Given the description of an element on the screen output the (x, y) to click on. 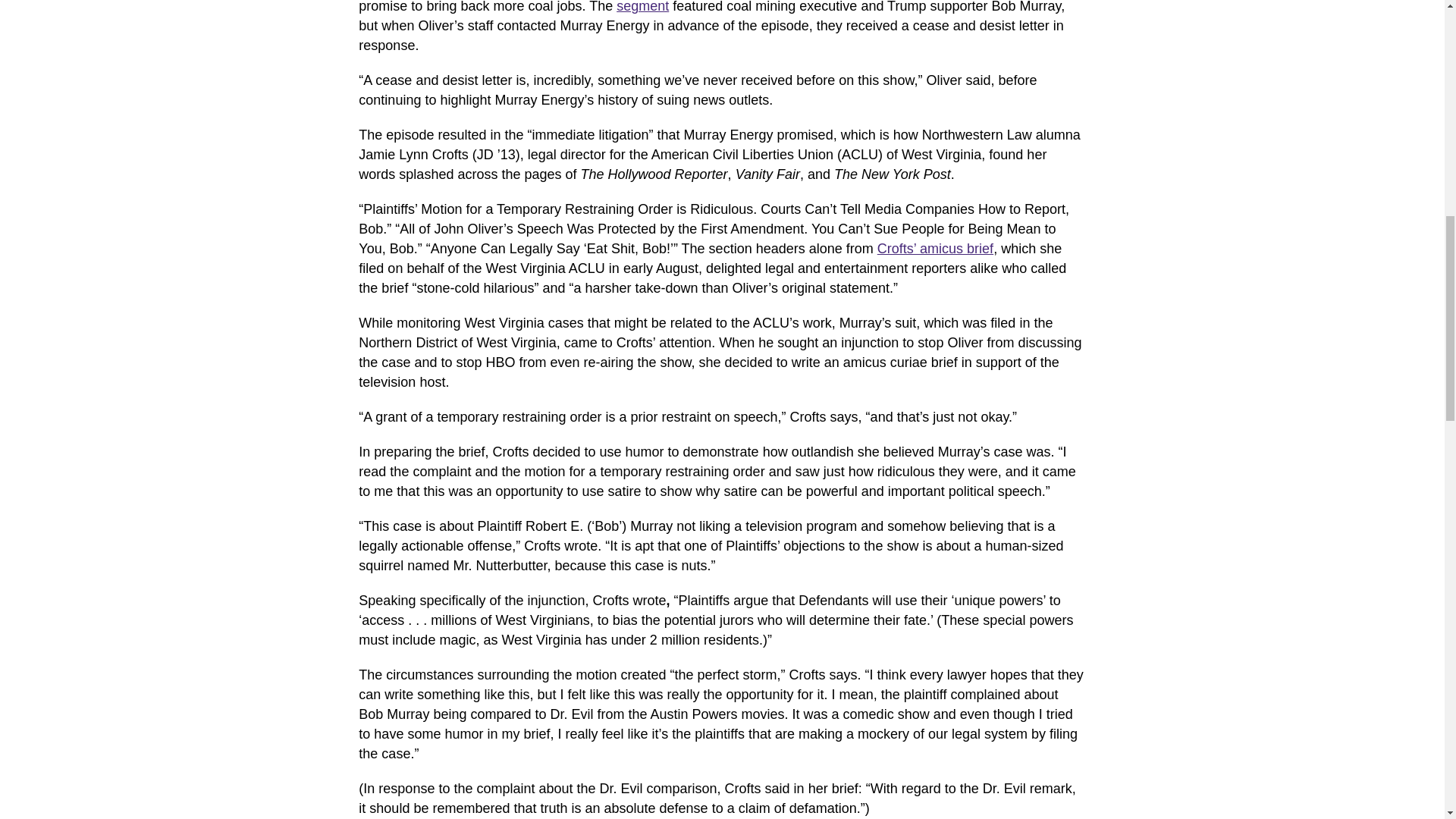
segment (641, 6)
